Given the description of an element on the screen output the (x, y) to click on. 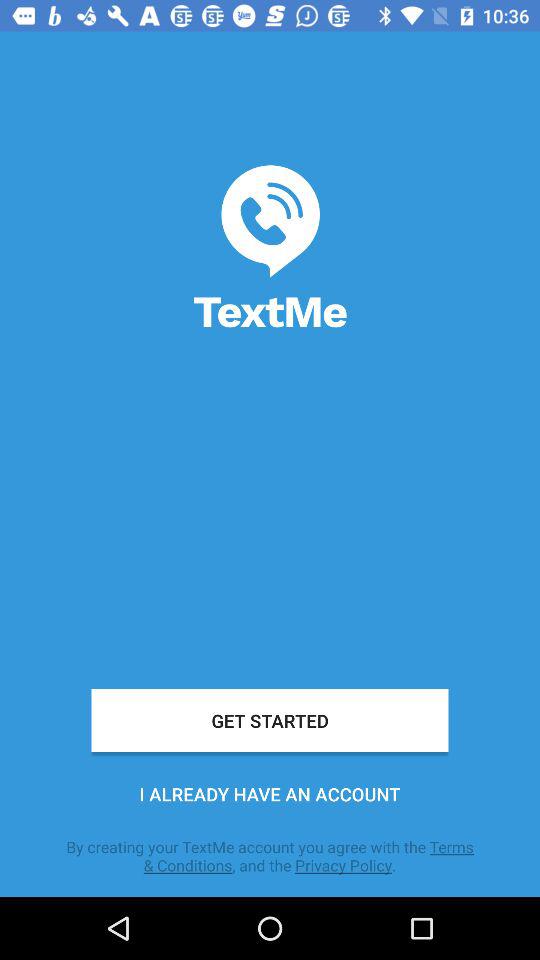
tap by creating your item (270, 856)
